Given the description of an element on the screen output the (x, y) to click on. 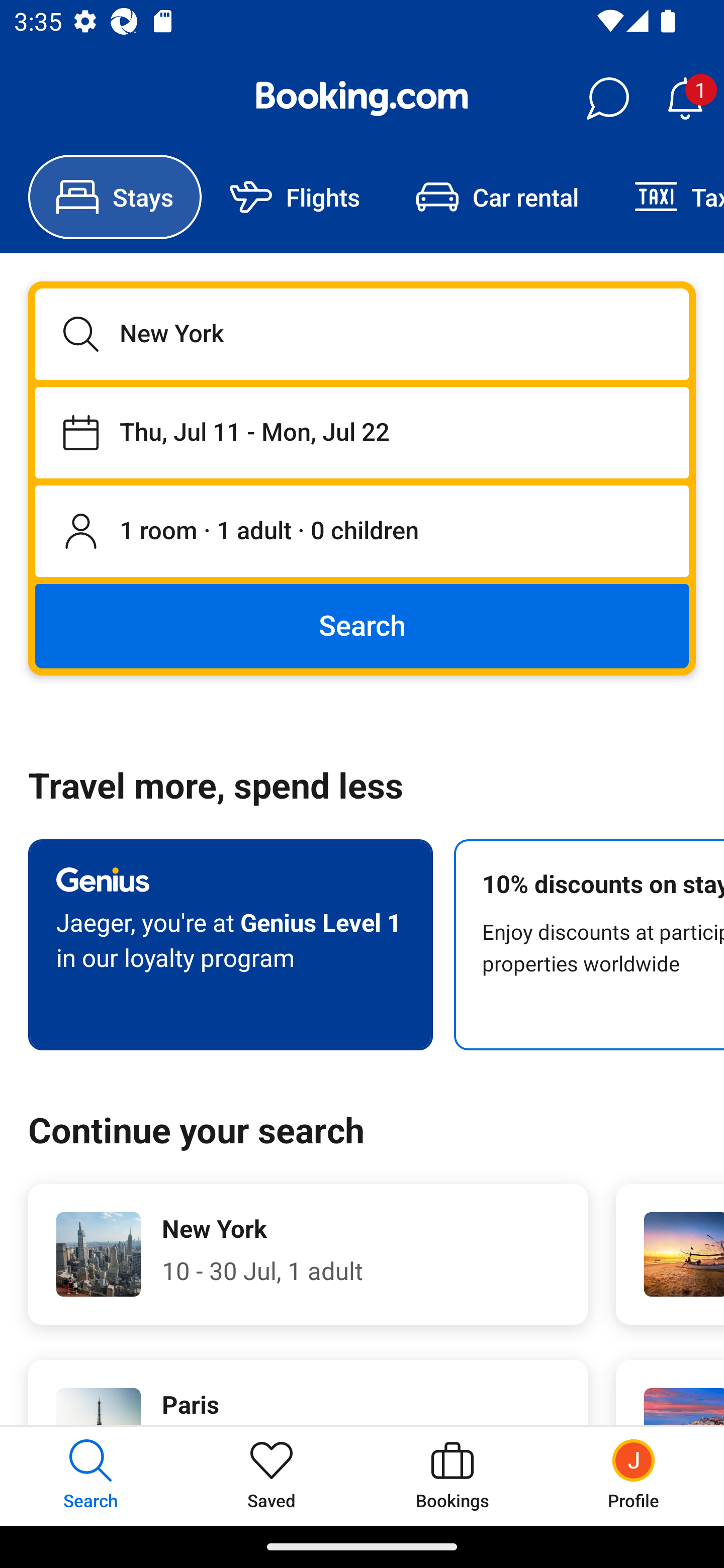
Messages (607, 98)
Notifications (685, 98)
Stays (114, 197)
Flights (294, 197)
Car rental (497, 197)
Taxi (665, 197)
New York (361, 333)
Staying from Thu, Jul 11 until Mon, Jul 22 (361, 432)
1 room, 1 adult, 0 children (361, 531)
Search (361, 625)
New York 10 - 30 Jul, 1 adult (307, 1253)
Saved (271, 1475)
Bookings (452, 1475)
Profile (633, 1475)
